Given the description of an element on the screen output the (x, y) to click on. 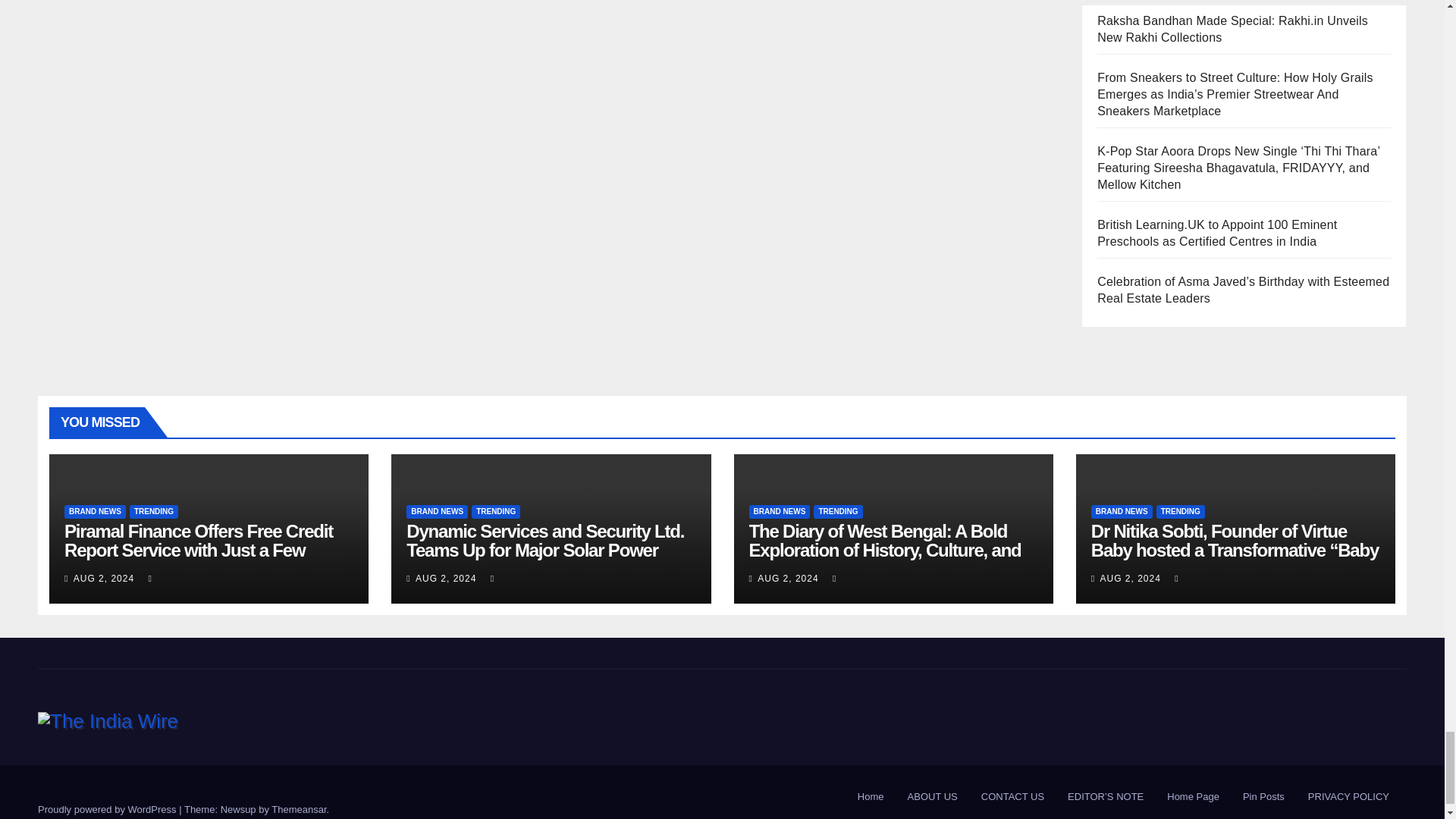
Home (870, 796)
